Given the description of an element on the screen output the (x, y) to click on. 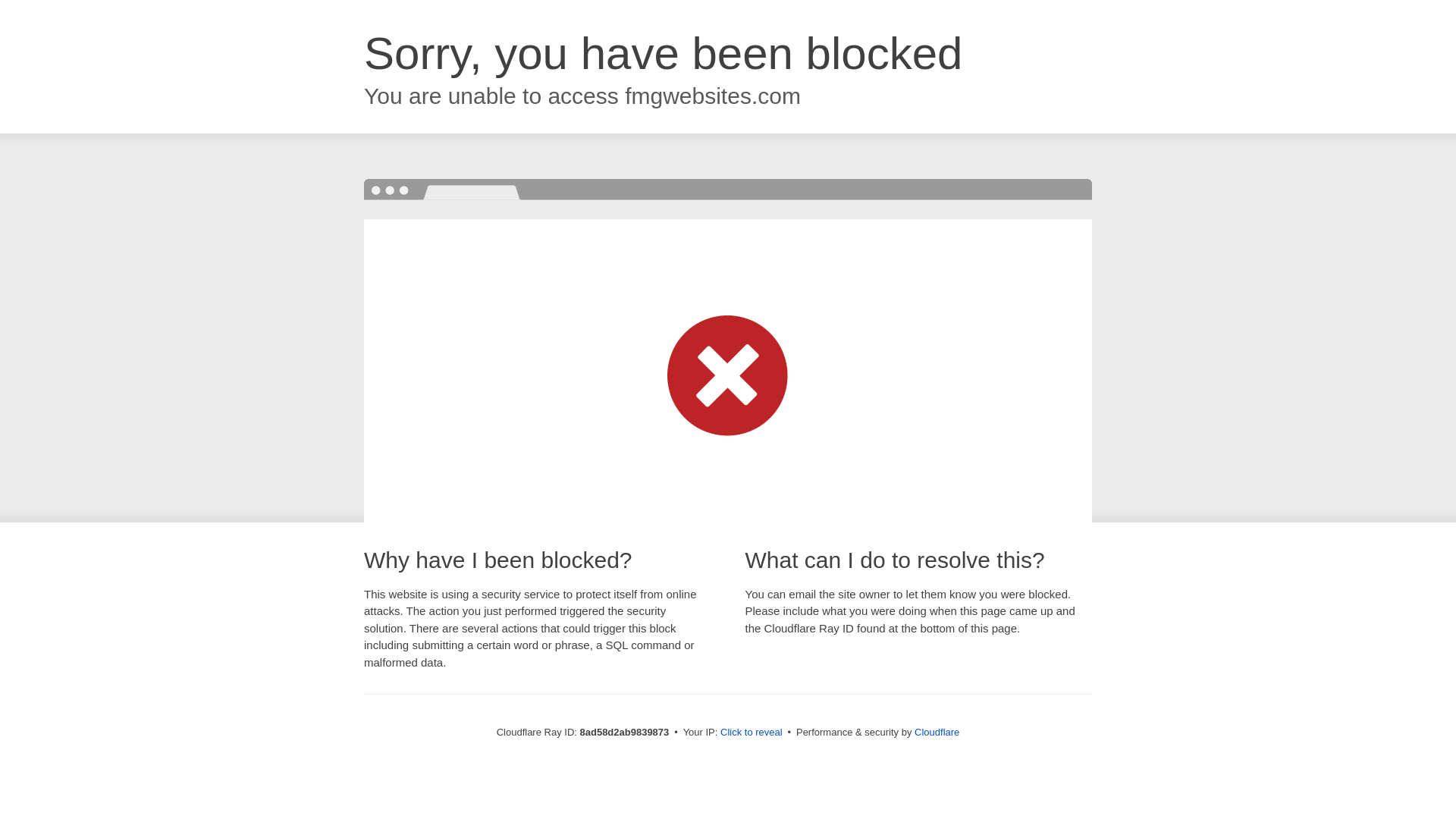
Click to reveal (751, 732)
Cloudflare (936, 731)
